Given the description of an element on the screen output the (x, y) to click on. 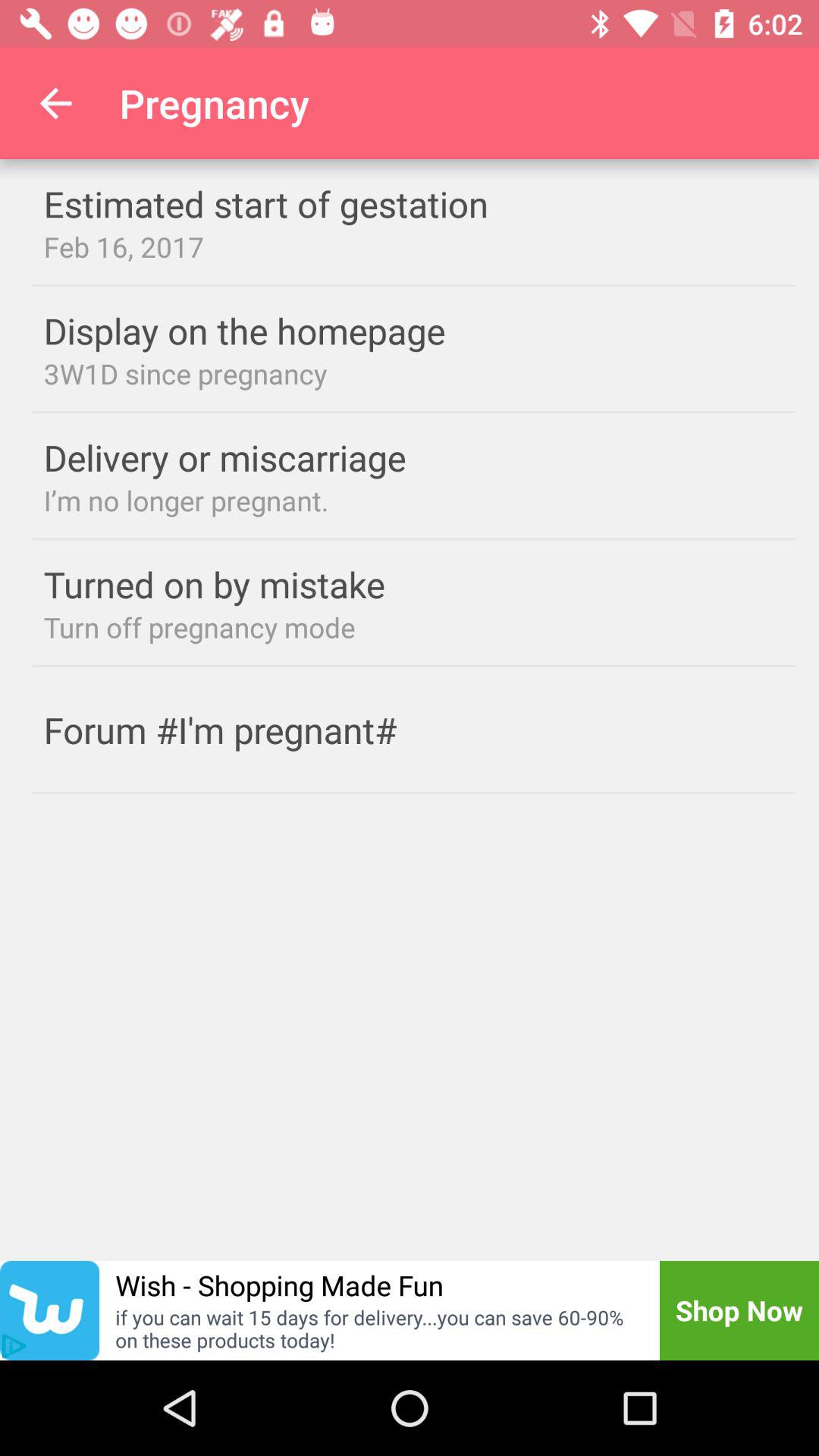
open the shop now at the bottom right corner (739, 1310)
